Given the description of an element on the screen output the (x, y) to click on. 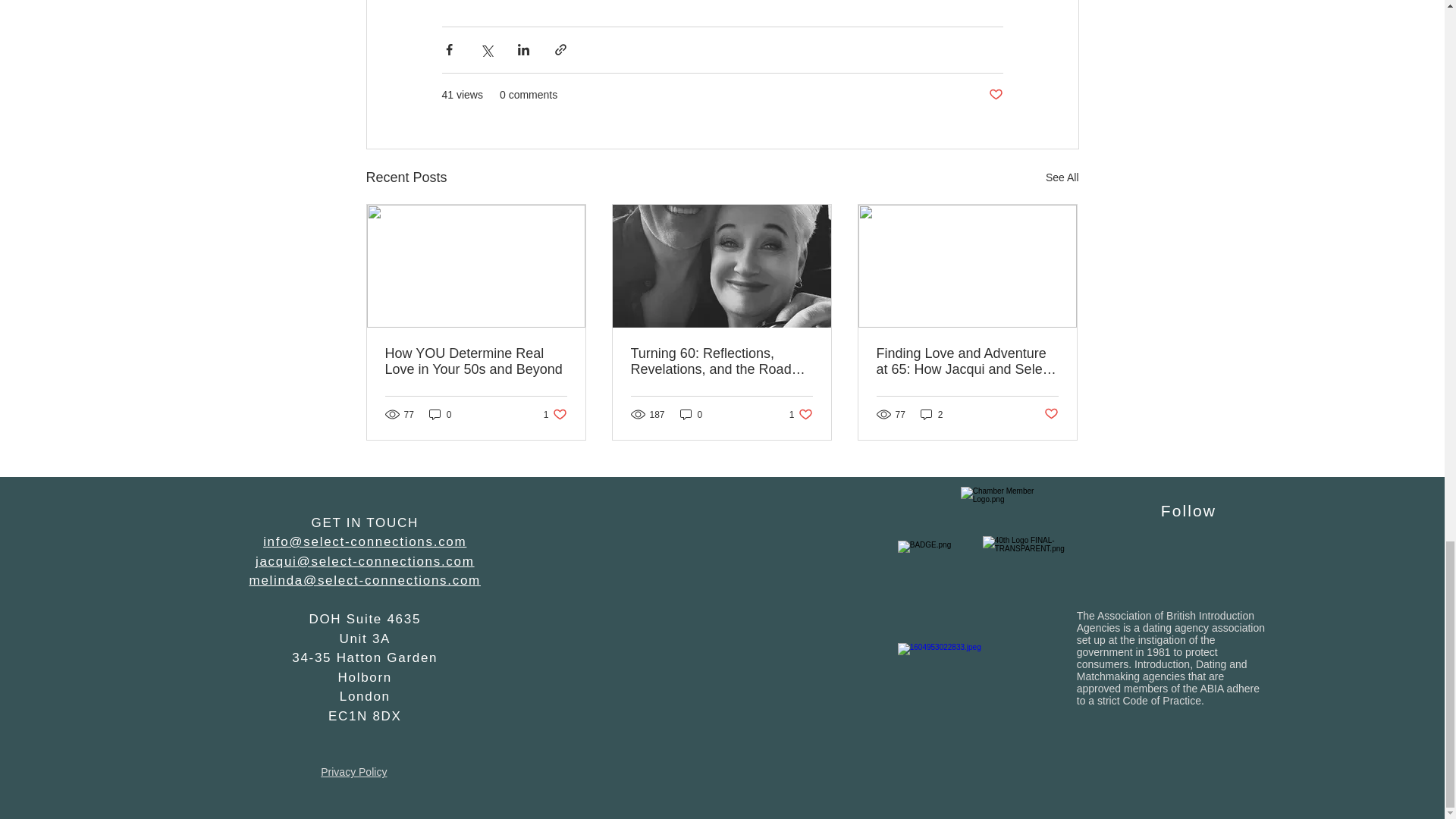
See All (800, 414)
2 (1061, 178)
How YOU Determine Real Love in Your 50s and Beyond (931, 414)
Post not marked as liked (476, 361)
0 (995, 94)
Post not marked as liked (440, 414)
0 (1050, 414)
